Given the description of an element on the screen output the (x, y) to click on. 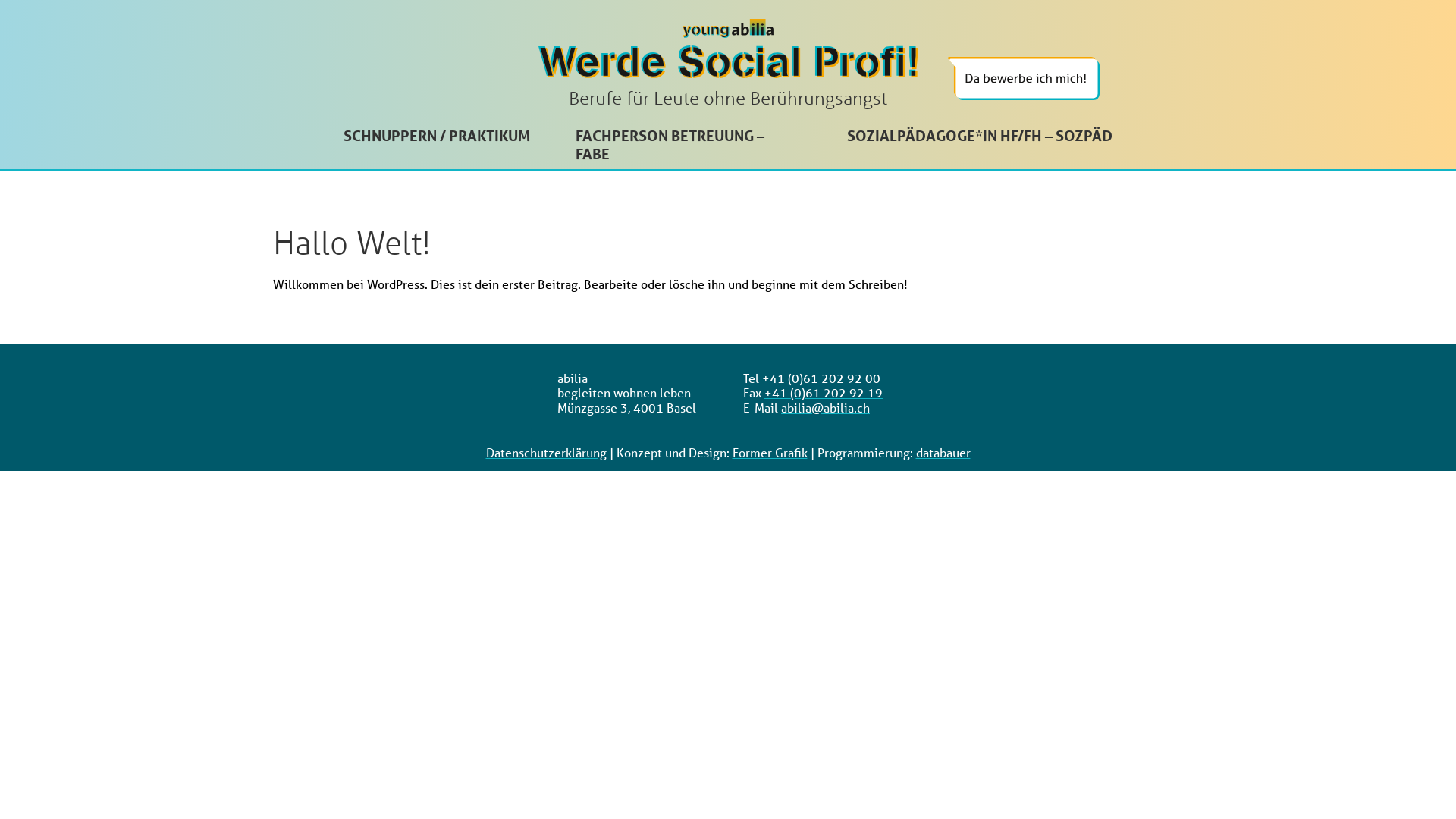
+41 (0)61 202 92 00 Element type: text (821, 377)
SCHNUPPERN / PRAKTIKUM Element type: text (436, 135)
databauer Element type: text (943, 452)
+41 (0)61 202 92 19 Element type: text (823, 392)
abilia@abilia.ch Element type: text (825, 407)
Former Grafik Element type: text (769, 452)
